Given the description of an element on the screen output the (x, y) to click on. 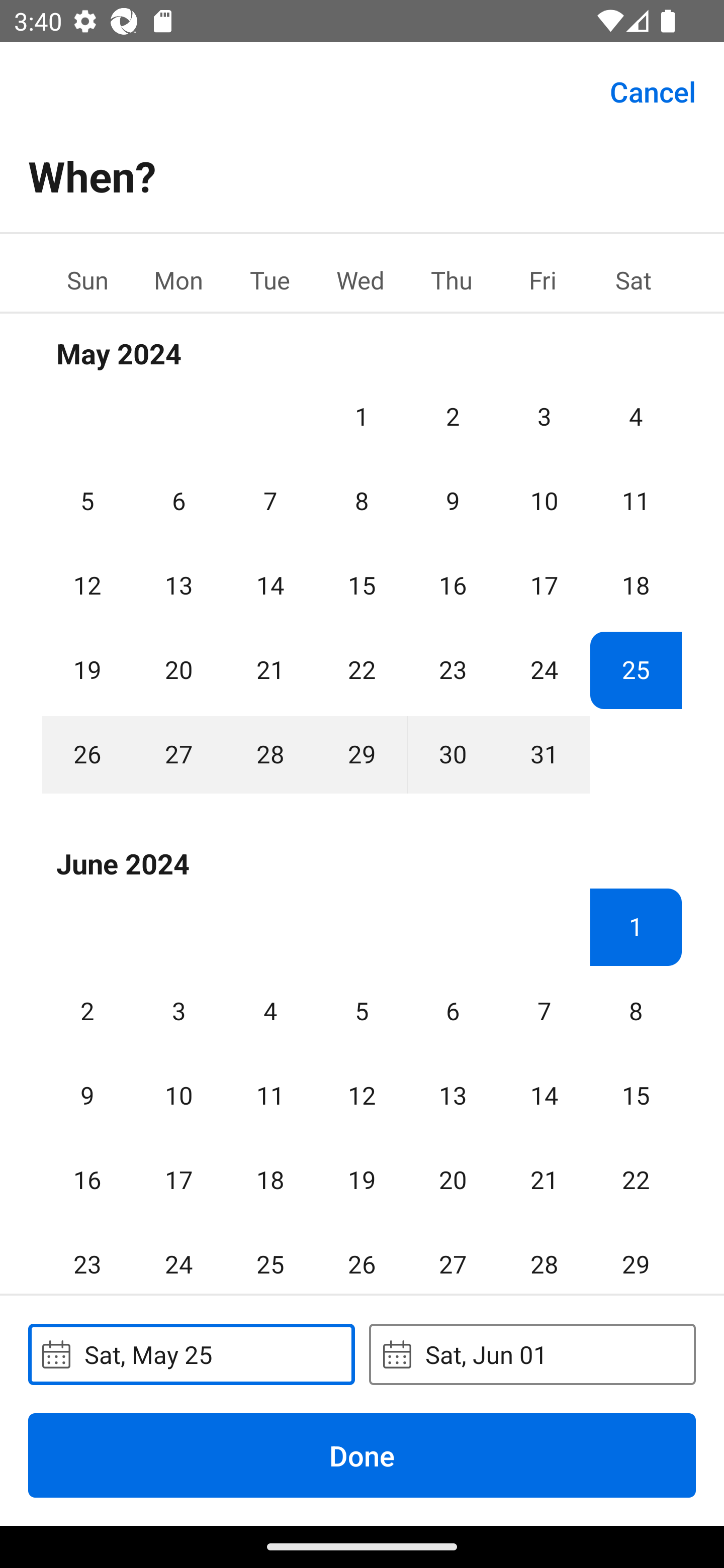
Cancel (652, 90)
Sat, May 25 (191, 1353)
Sat, Jun 01 (532, 1353)
Done (361, 1454)
